Given the description of an element on the screen output the (x, y) to click on. 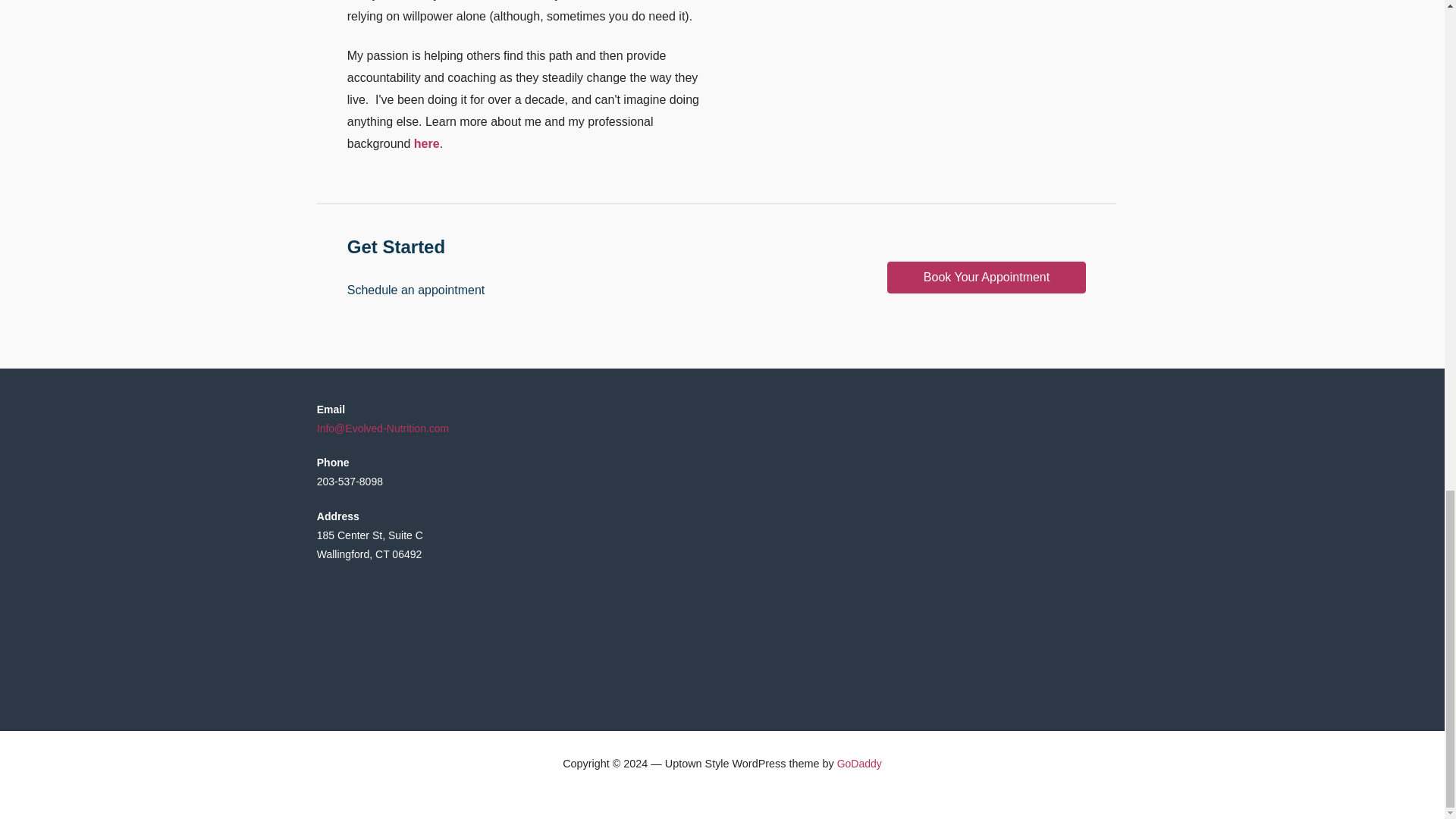
GoDaddy (859, 763)
here (426, 143)
Book Your Appointment (986, 277)
